Given the description of an element on the screen output the (x, y) to click on. 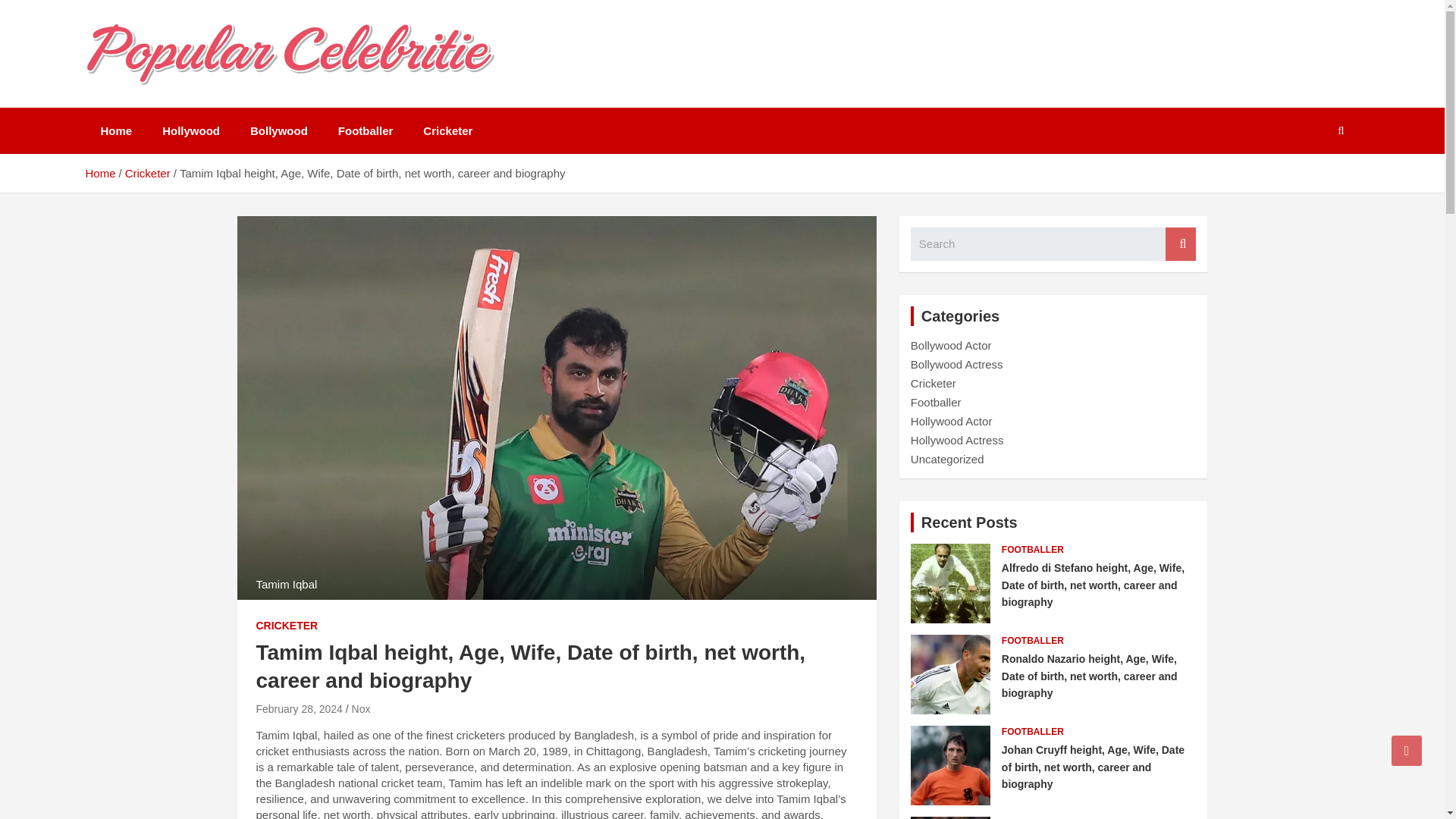
Popular Celebritie (213, 104)
FOOTBALLER (1032, 731)
Footballer (366, 130)
FOOTBALLER (1032, 640)
Cricketer (147, 173)
Footballer (935, 401)
CRICKETER (287, 626)
Bollywood (278, 130)
FOOTBALLER (1032, 549)
Home (99, 173)
Recent Posts (969, 522)
Cricketer (933, 382)
February 28, 2024 (299, 708)
Hollywood Actress (957, 440)
